Given the description of an element on the screen output the (x, y) to click on. 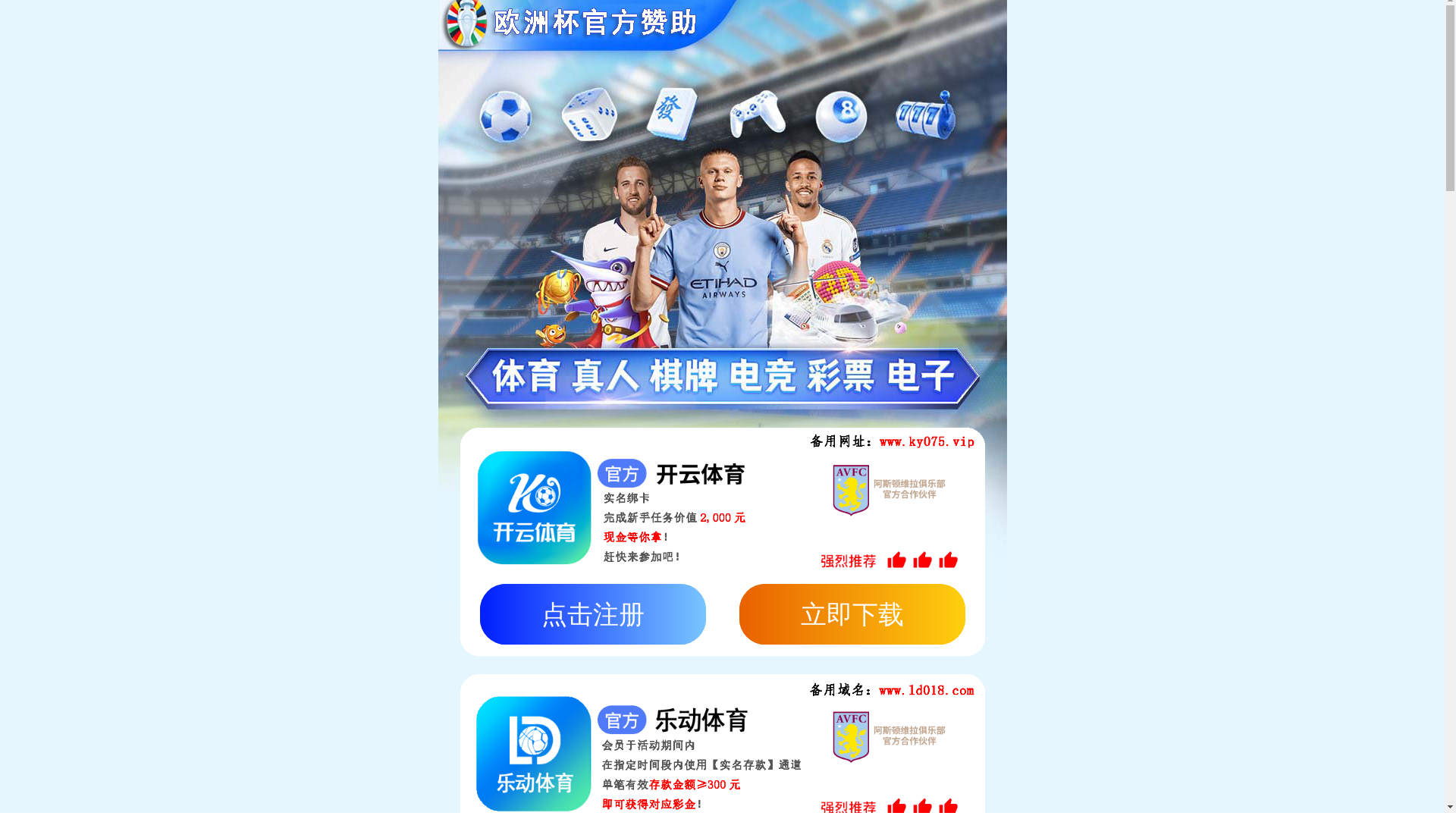
About Us (956, 24)
Development History (461, 359)
Contact Us (1190, 24)
Company Profile (208, 359)
Home (897, 24)
Products (1022, 24)
Cases (1079, 24)
News (1128, 24)
Marketing Network (329, 359)
